Given the description of an element on the screen output the (x, y) to click on. 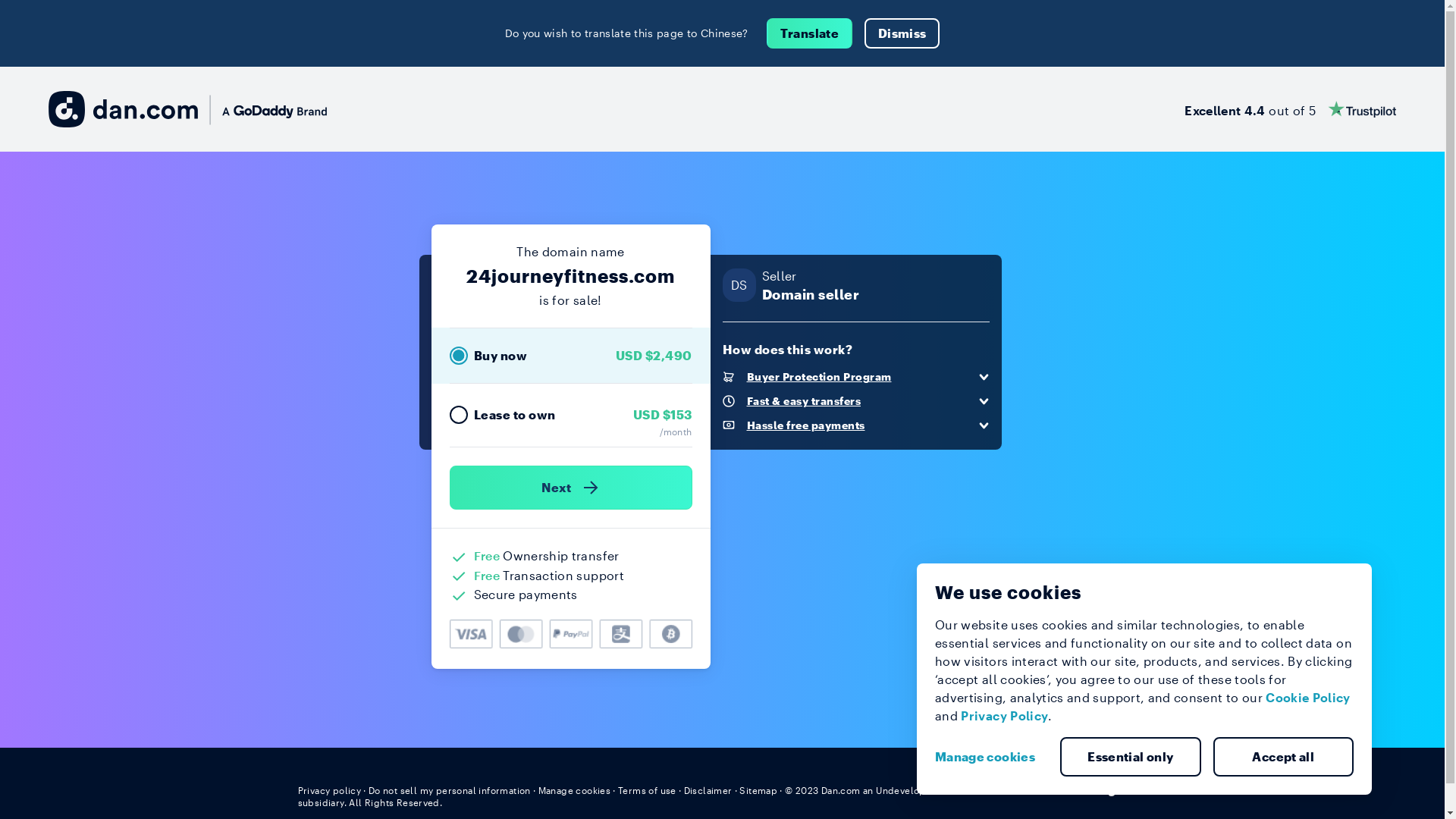
English Element type: text (1119, 789)
Do not sell my personal information Element type: text (449, 789)
Cookie Policy Element type: text (1307, 697)
Privacy policy Element type: text (328, 789)
Next
) Element type: text (569, 487)
Dismiss Element type: text (901, 33)
Translate Element type: text (809, 33)
Essential only Element type: text (1130, 756)
Accept all Element type: text (1283, 756)
Disclaimer Element type: text (708, 789)
Terms of use Element type: text (647, 789)
Sitemap Element type: text (758, 789)
Excellent 4.4 out of 5 Element type: text (1290, 109)
Privacy Policy Element type: text (1004, 715)
Manage cookies Element type: text (574, 790)
Manage cookies Element type: text (991, 756)
